Given the description of an element on the screen output the (x, y) to click on. 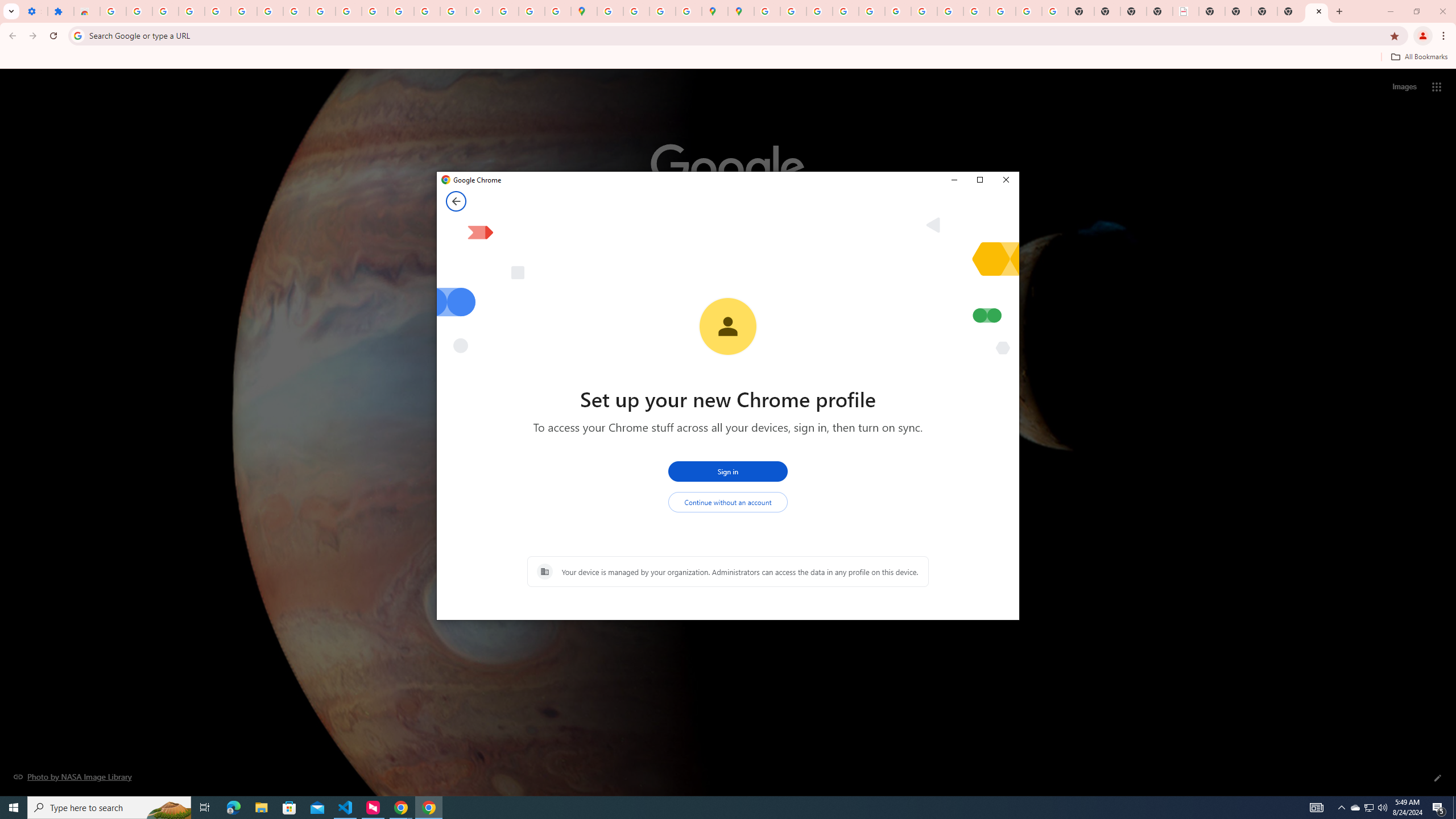
Q2790: 100% (1382, 807)
Privacy Help Center - Policies Help (845, 11)
Microsoft Store (289, 807)
Settings - On startup (34, 11)
Search highlights icon opens search home window (167, 807)
